Given the description of an element on the screen output the (x, y) to click on. 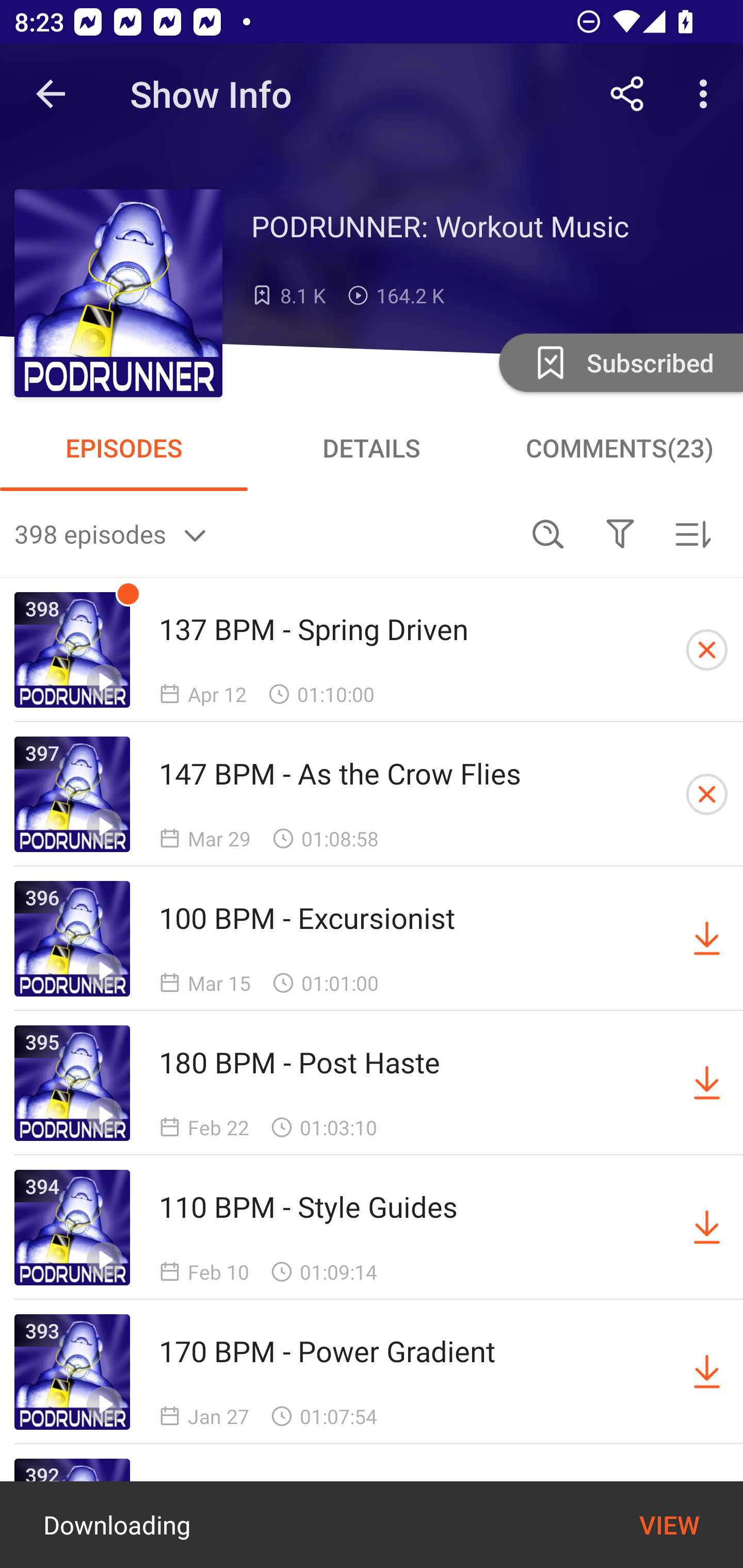
Navigate up (50, 93)
Share (626, 93)
More options (706, 93)
Unsubscribe Subscribed (619, 361)
EPISODES (123, 447)
DETAILS (371, 447)
COMMENTS(23) (619, 447)
398 episodes  (262, 533)
 Search (547, 533)
 (619, 533)
 Sorted by newest first (692, 533)
Cancel Downloading (706, 649)
Cancel Downloading (706, 793)
Download (706, 939)
Download (706, 1083)
Download (706, 1227)
Download (706, 1371)
Pause (654, 1525)
